Given the description of an element on the screen output the (x, y) to click on. 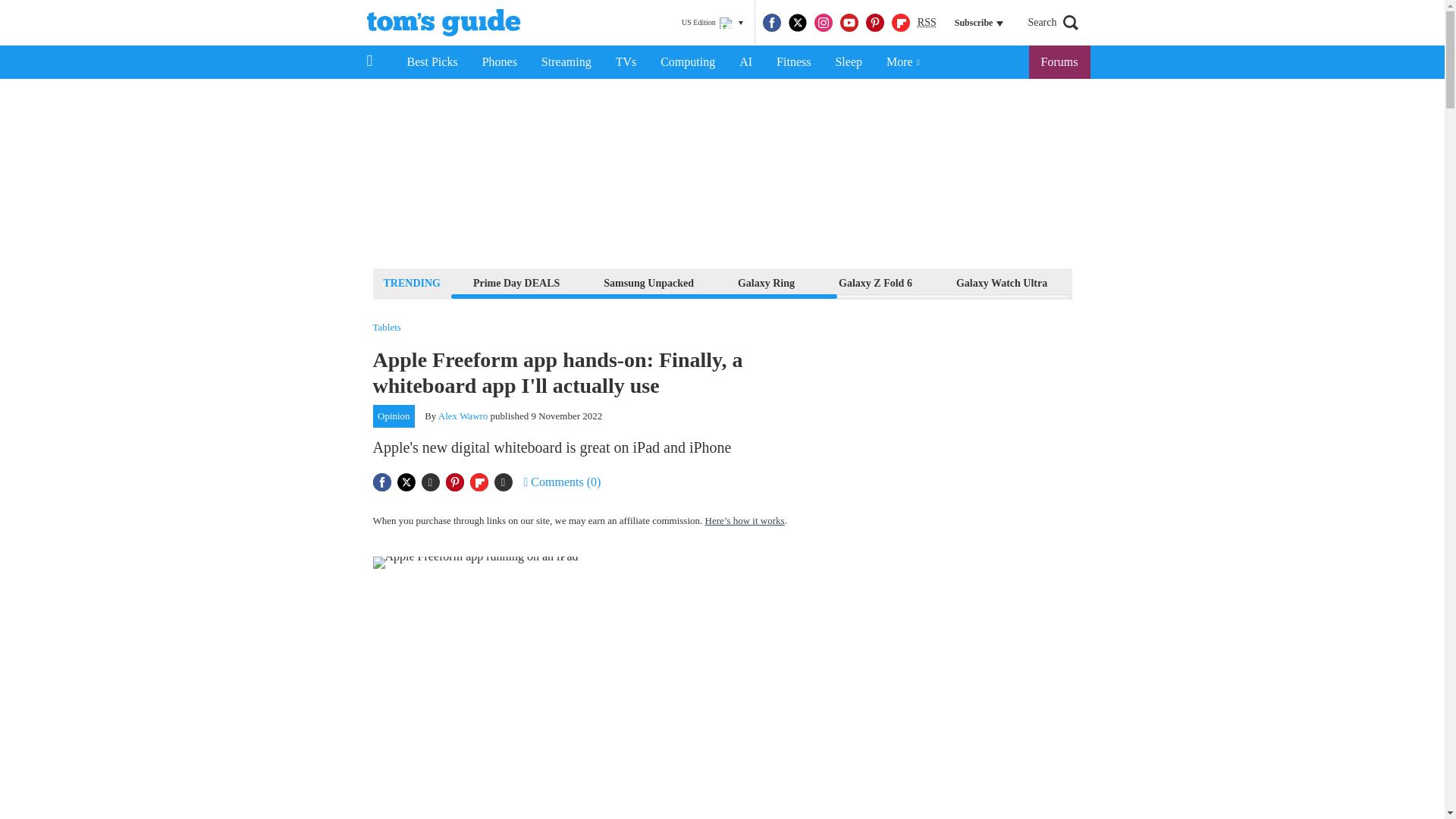
RSS (926, 22)
AI (745, 61)
Sleep (848, 61)
US Edition (712, 22)
Really Simple Syndication (926, 21)
Fitness (793, 61)
Streaming (566, 61)
TVs (626, 61)
Best Picks (431, 61)
Phones (499, 61)
Computing (686, 61)
